Given the description of an element on the screen output the (x, y) to click on. 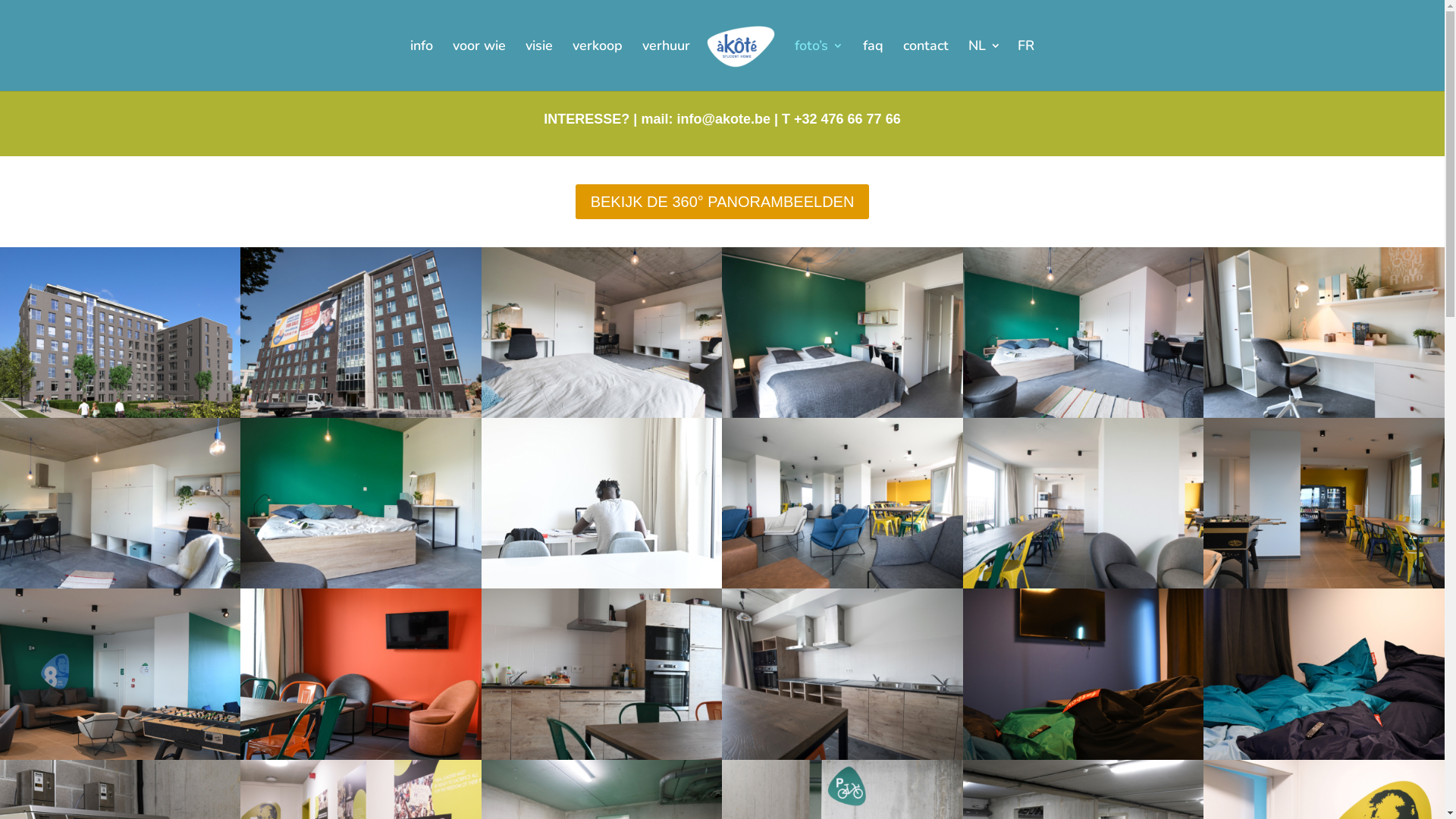
MMX_7140 Element type: hover (360, 755)
studio_007 Element type: hover (1083, 413)
MMX_7136 Element type: hover (601, 755)
studio_003 Element type: hover (360, 584)
info@akote.be Element type: text (723, 118)
MMX_7113 Element type: hover (1323, 584)
FR Element type: text (1025, 65)
MMX_5958 Element type: hover (841, 413)
verhuur Element type: text (666, 65)
NL Element type: text (984, 65)
MMX_5905 Element type: hover (1083, 584)
MMX_5914 Element type: hover (841, 584)
MMX_7118 Element type: hover (1083, 755)
studio_002 Element type: hover (120, 584)
voor wie Element type: text (478, 65)
faq Element type: text (872, 65)
verkoop Element type: text (597, 65)
MMX_7125 Element type: hover (1323, 755)
MMX_5966 Element type: hover (360, 413)
info Element type: text (421, 65)
visie Element type: text (538, 65)
_studio5644 Element type: hover (601, 413)
MMX_5925 Element type: hover (841, 755)
MMX_7103 Element type: hover (120, 755)
contact Element type: text (925, 65)
P_etude Element type: hover (601, 584)
